Given the description of an element on the screen output the (x, y) to click on. 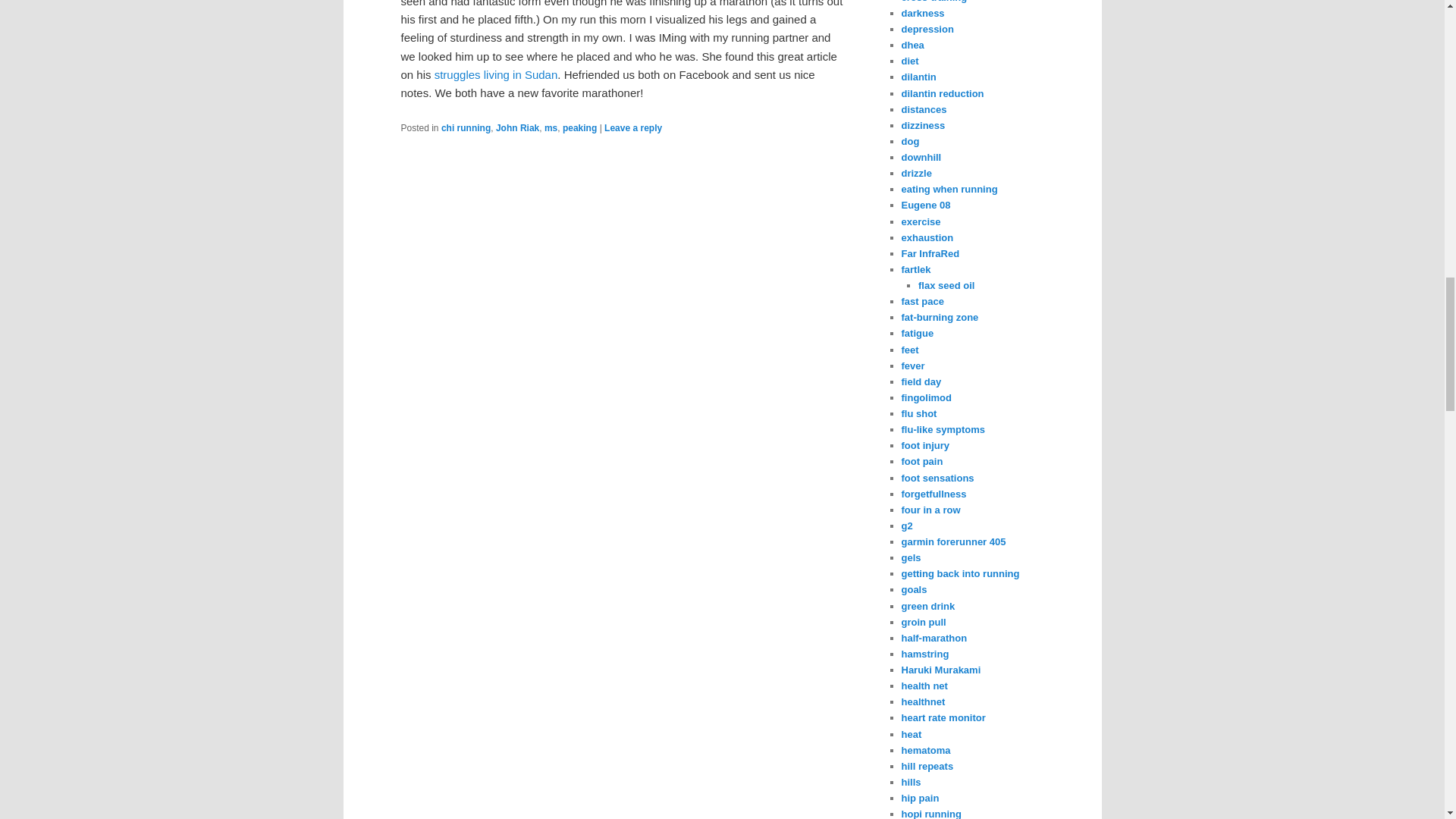
struggles living in Sudan (495, 74)
John Riak (517, 127)
Leave a reply (633, 127)
peaking (579, 127)
chi running (465, 127)
ms (550, 127)
